Given the description of an element on the screen output the (x, y) to click on. 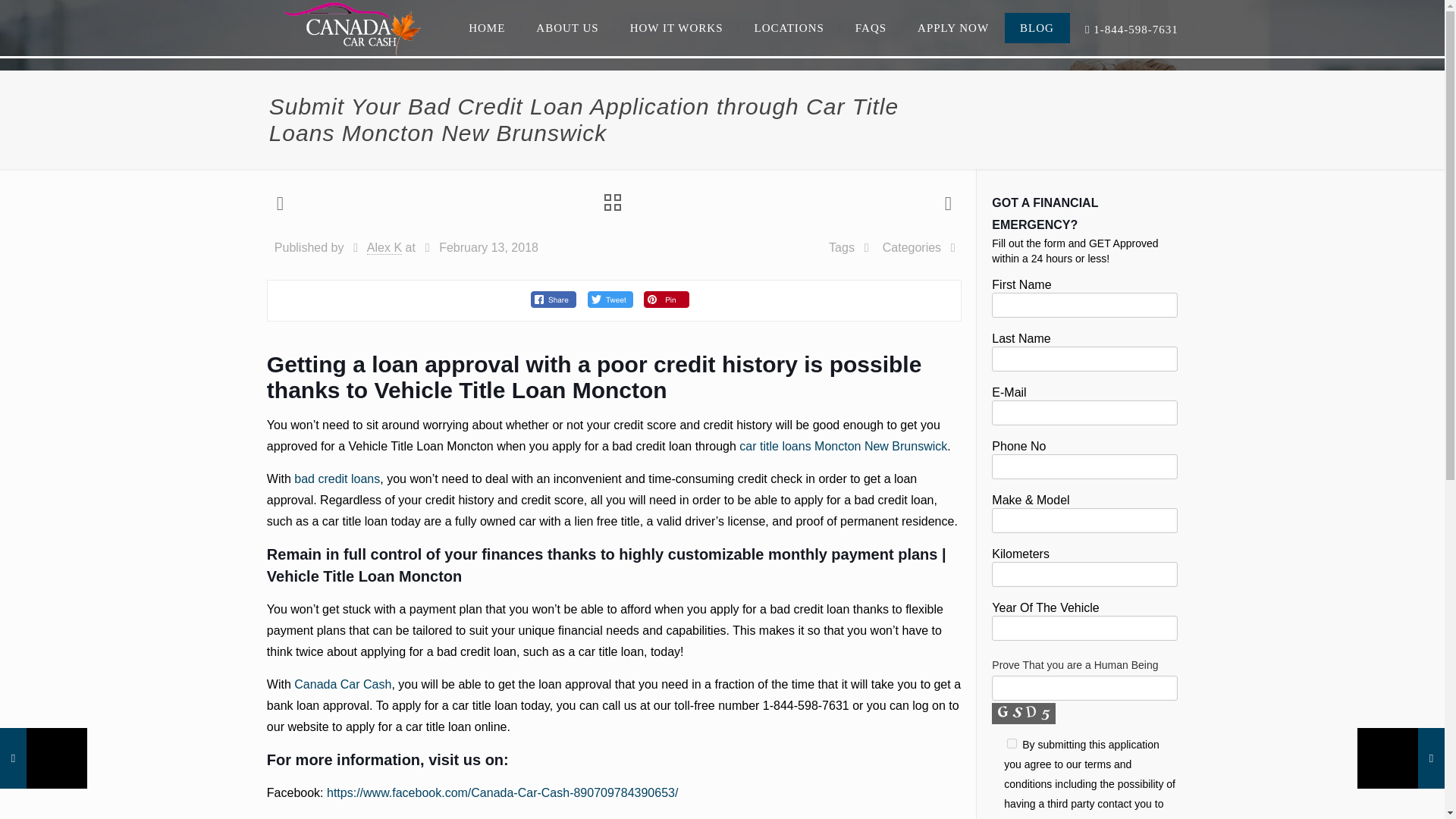
BLOG (1037, 28)
bad credit loans (337, 478)
Alex K (383, 247)
car title loans Moncton New Brunswick (843, 445)
HOME (486, 28)
FAQS (871, 28)
ABOUT US (567, 28)
1-844-598-7631 (1131, 29)
Canada Car Cash (342, 684)
HOW IT WORKS (676, 28)
